Given the description of an element on the screen output the (x, y) to click on. 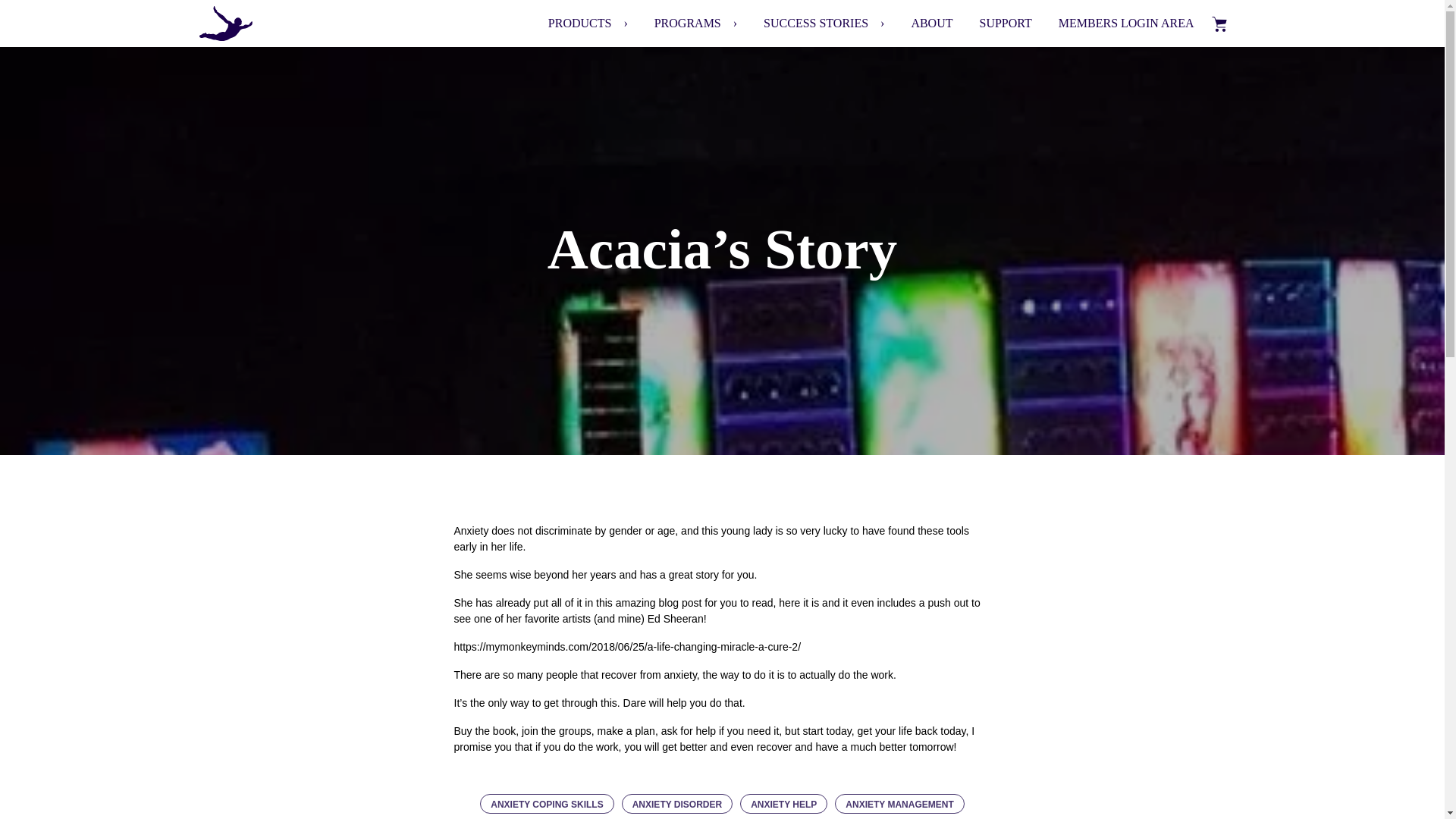
PROGRAMS (673, 22)
MEMBERS LOGIN AREA (1112, 22)
Programs (673, 22)
About (917, 22)
ABOUT (917, 22)
SUCCESS STORIES (801, 22)
SUCCESS STORIES (801, 22)
SUPPORT (991, 22)
ANXIETY COPING SKILLS (546, 803)
Products (566, 22)
SUPPORT (991, 22)
PRODUCTS (566, 22)
